Given the description of an element on the screen output the (x, y) to click on. 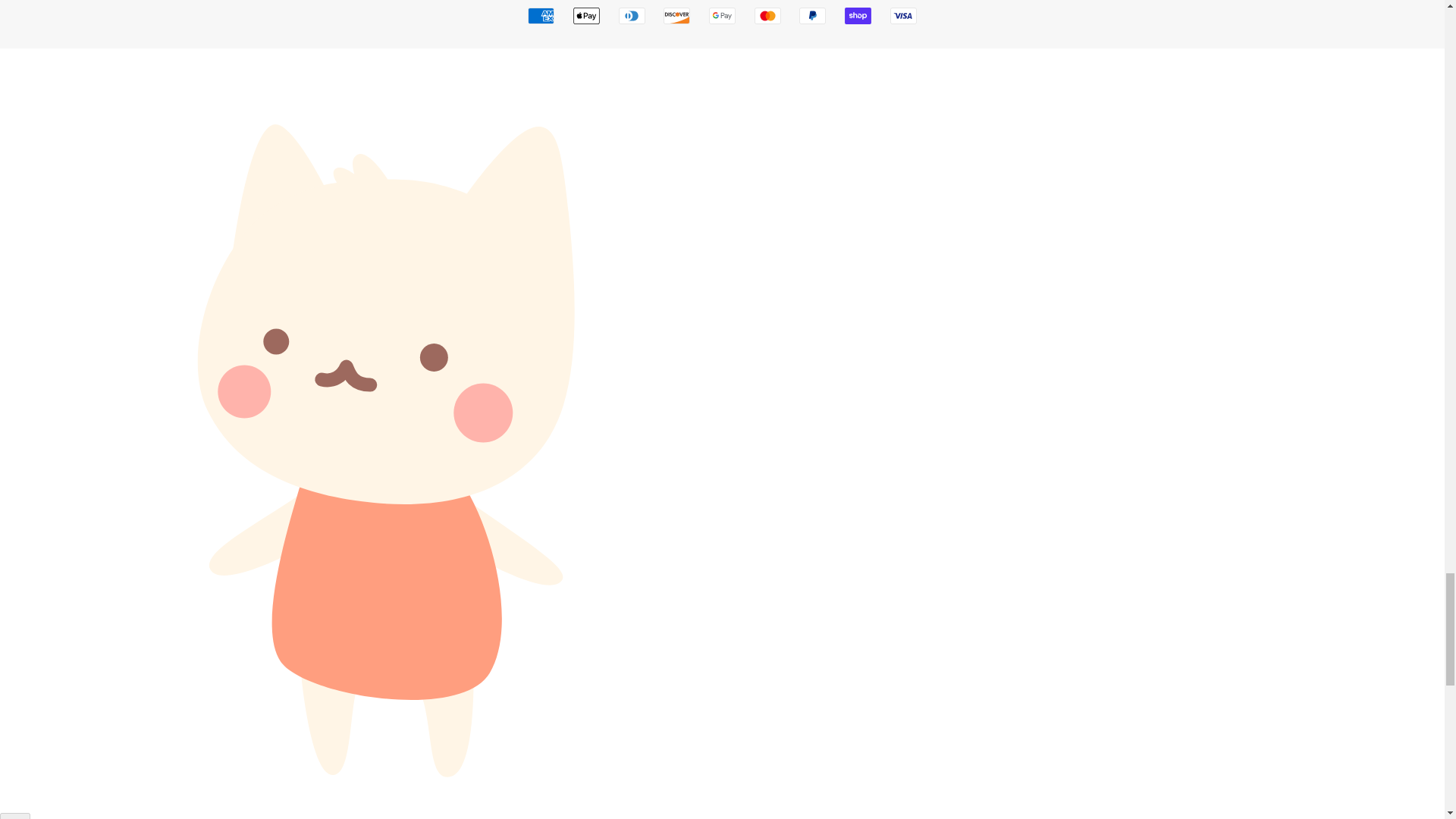
APPLE PAY (586, 15)
GOOGLE PAY (722, 15)
DINERS CLUB (631, 15)
DISCOVER (676, 15)
PAYPAL (812, 15)
AMERICAN EXPRESS (540, 15)
MASTERCARD (767, 15)
